Given the description of an element on the screen output the (x, y) to click on. 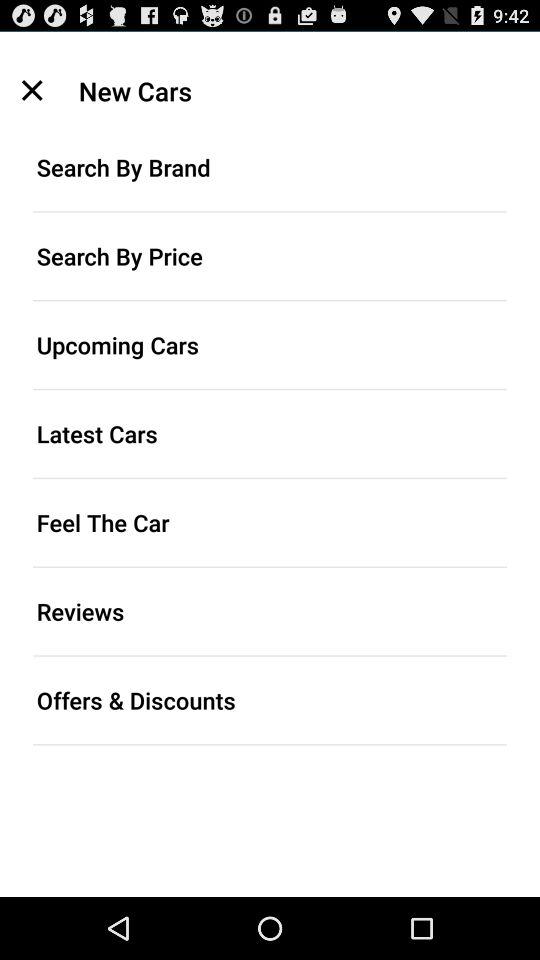
turn off the feel the car item (270, 522)
